Given the description of an element on the screen output the (x, y) to click on. 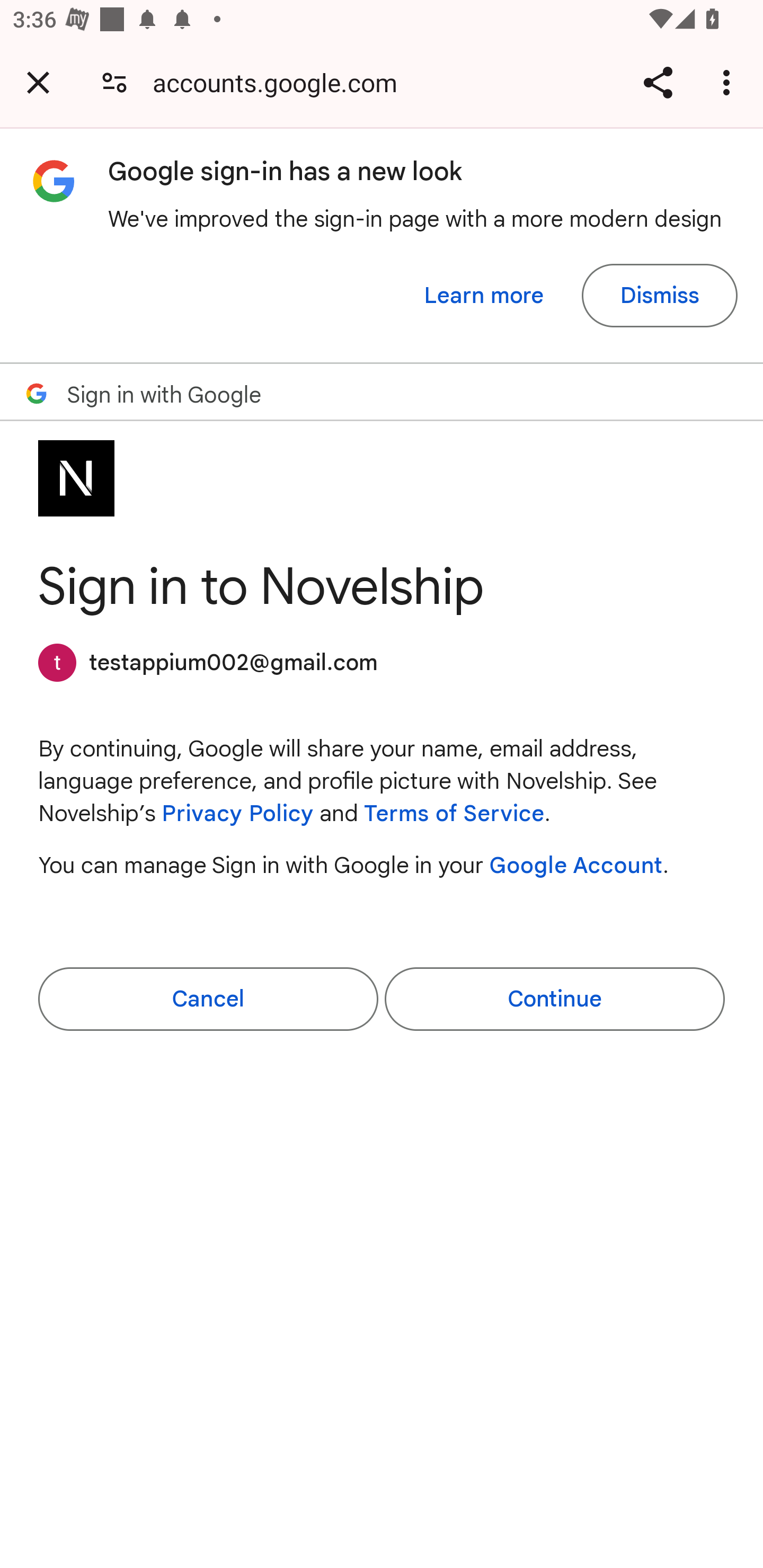
Close tab (38, 82)
Share (657, 82)
Customize and control Google Chrome (729, 82)
Connection is secure (114, 81)
accounts.google.com (281, 81)
Learn more (483, 295)
Dismiss (659, 295)
Privacy Policy (237, 814)
Terms of Service (453, 814)
Google Account (576, 864)
Cancel (208, 998)
Continue (554, 998)
